Given the description of an element on the screen output the (x, y) to click on. 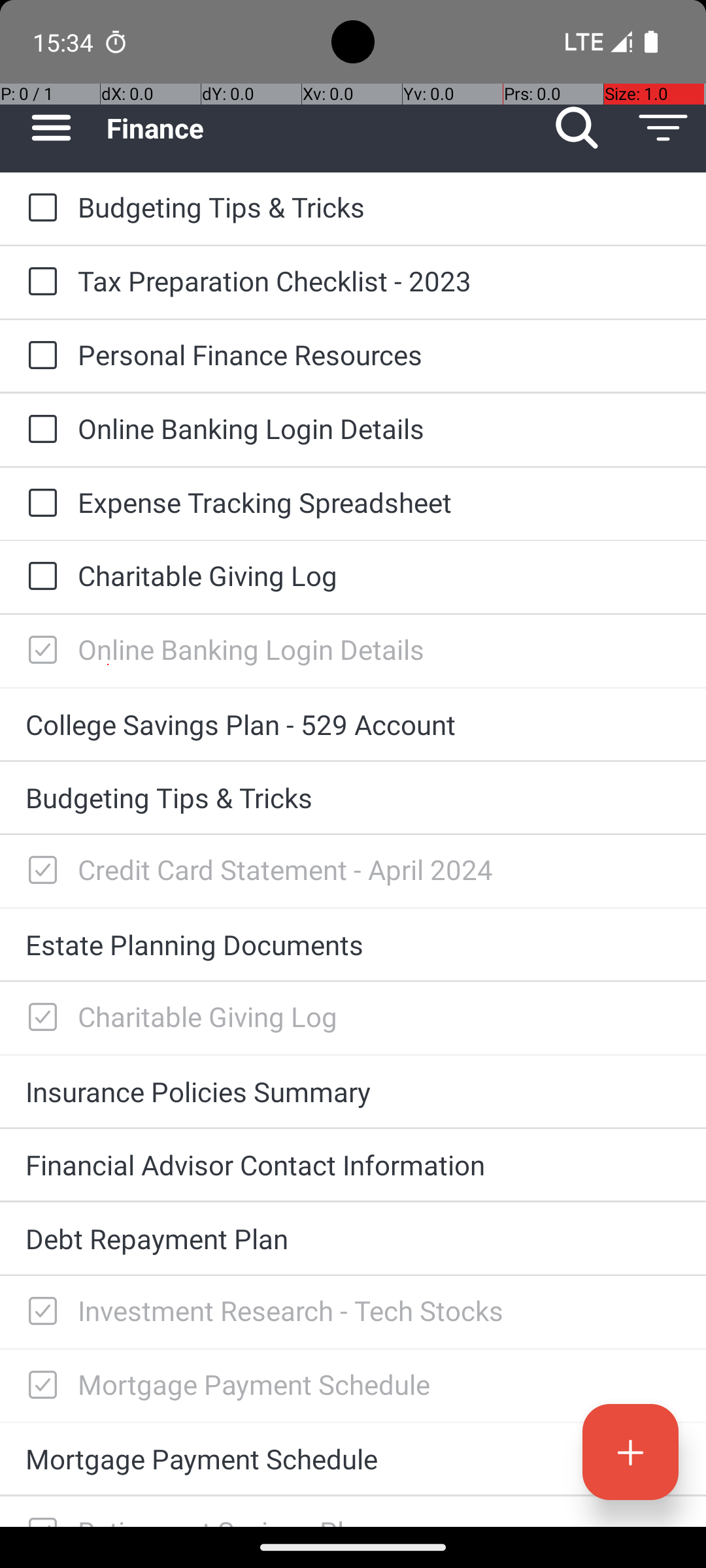
to-do: Budgeting Tips & Tricks Element type: android.widget.CheckBox (38, 208)
Budgeting Tips & Tricks Element type: android.widget.TextView (378, 206)
to-do: Tax Preparation Checklist - 2023 Element type: android.widget.CheckBox (38, 282)
Tax Preparation Checklist - 2023 Element type: android.widget.TextView (378, 280)
to-do: Personal Finance Resources Element type: android.widget.CheckBox (38, 356)
Personal Finance Resources Element type: android.widget.TextView (378, 354)
to-do: Online Banking Login Details Element type: android.widget.CheckBox (38, 429)
Online Banking Login Details Element type: android.widget.TextView (378, 427)
to-do: Expense Tracking Spreadsheet Element type: android.widget.CheckBox (38, 503)
Expense Tracking Spreadsheet Element type: android.widget.TextView (378, 501)
to-do: Charitable Giving Log Element type: android.widget.CheckBox (38, 576)
Charitable Giving Log Element type: android.widget.TextView (378, 574)
College Savings Plan - 529 Account Element type: android.widget.TextView (352, 723)
to-do: Credit Card Statement - April 2024 Element type: android.widget.CheckBox (38, 870)
Credit Card Statement - April 2024 Element type: android.widget.TextView (378, 868)
Estate Planning Documents Element type: android.widget.TextView (352, 944)
Insurance Policies Summary Element type: android.widget.TextView (352, 1091)
Debt Repayment Plan Element type: android.widget.TextView (352, 1238)
to-do: Investment Research - Tech Stocks Element type: android.widget.CheckBox (38, 1311)
Investment Research - Tech Stocks Element type: android.widget.TextView (378, 1309)
to-do: Mortgage Payment Schedule Element type: android.widget.CheckBox (38, 1385)
Mortgage Payment Schedule Element type: android.widget.TextView (378, 1383)
to-do: Retirement Savings Plan Element type: android.widget.CheckBox (38, 1511)
Retirement Savings Plan Element type: android.widget.TextView (378, 1519)
 Element type: android.widget.TextView (42, 650)
